Given the description of an element on the screen output the (x, y) to click on. 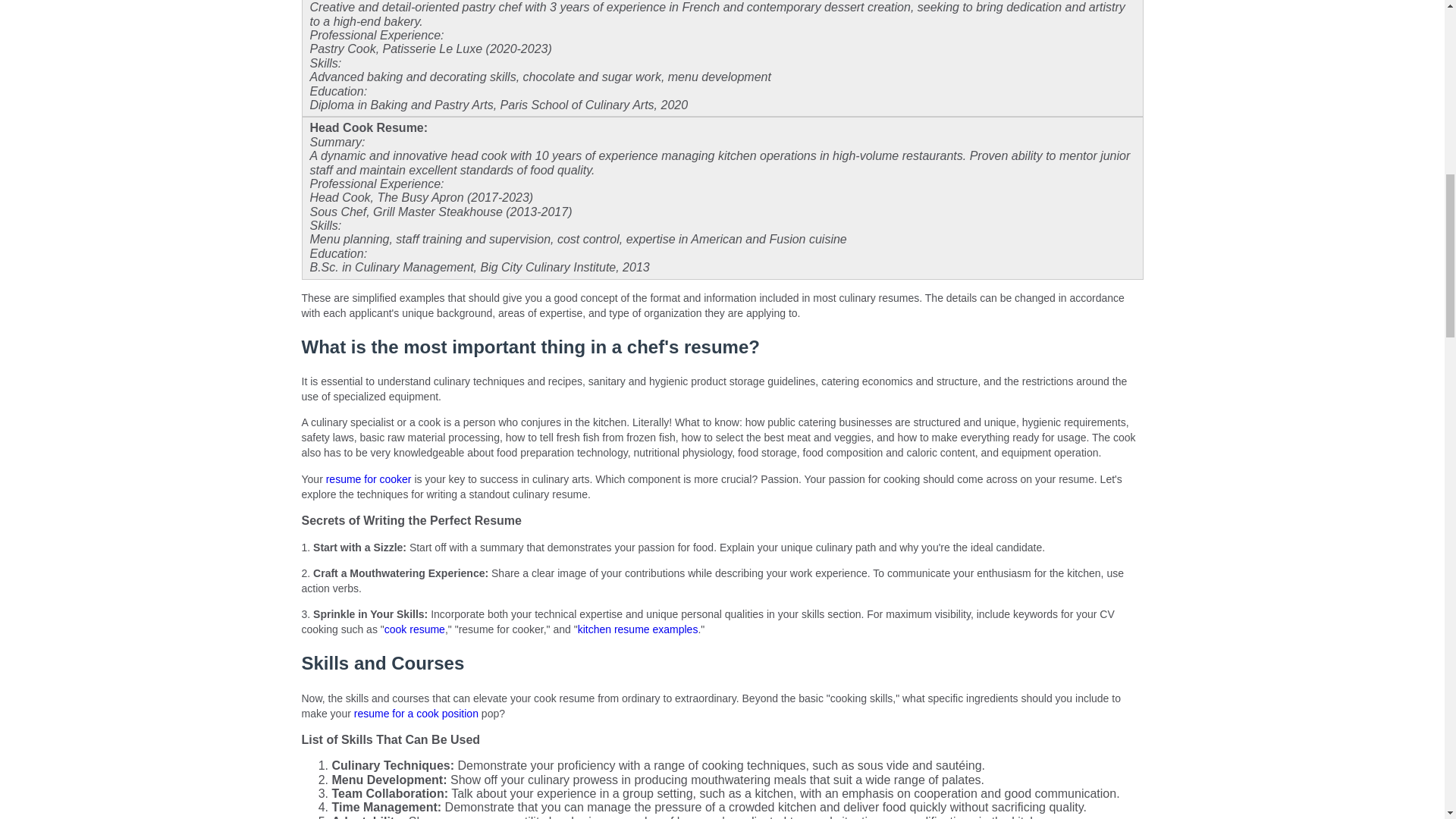
resume for cooker (369, 479)
resume for a cook position (416, 713)
kitchen resume examples (638, 629)
cook resume (414, 629)
